Given the description of an element on the screen output the (x, y) to click on. 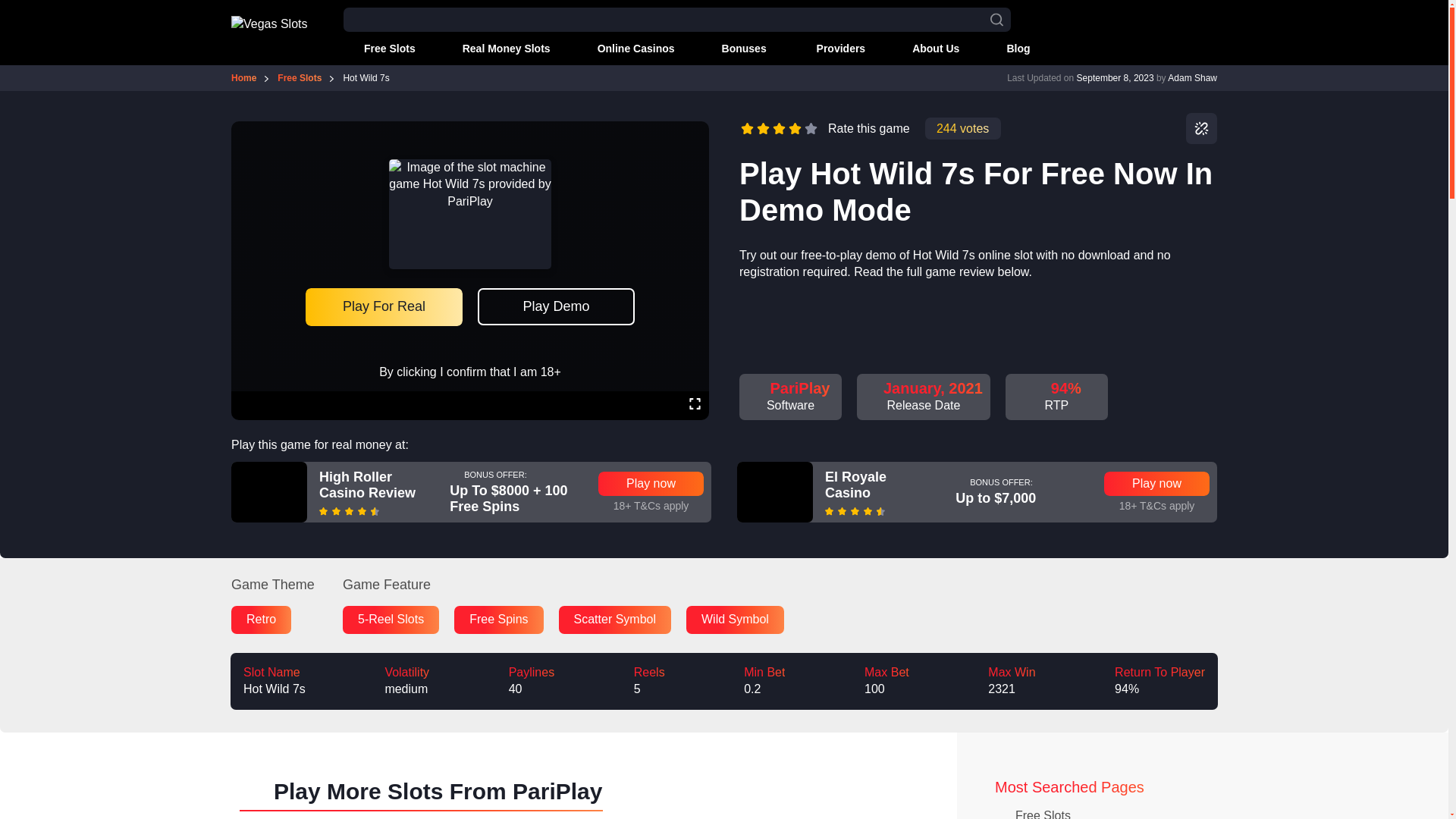
search (996, 19)
Providers (831, 48)
Real Money Slots (496, 48)
Online Casinos (625, 48)
Bonuses  (735, 48)
Search (6, 6)
Free Slots (378, 48)
